Given the description of an element on the screen output the (x, y) to click on. 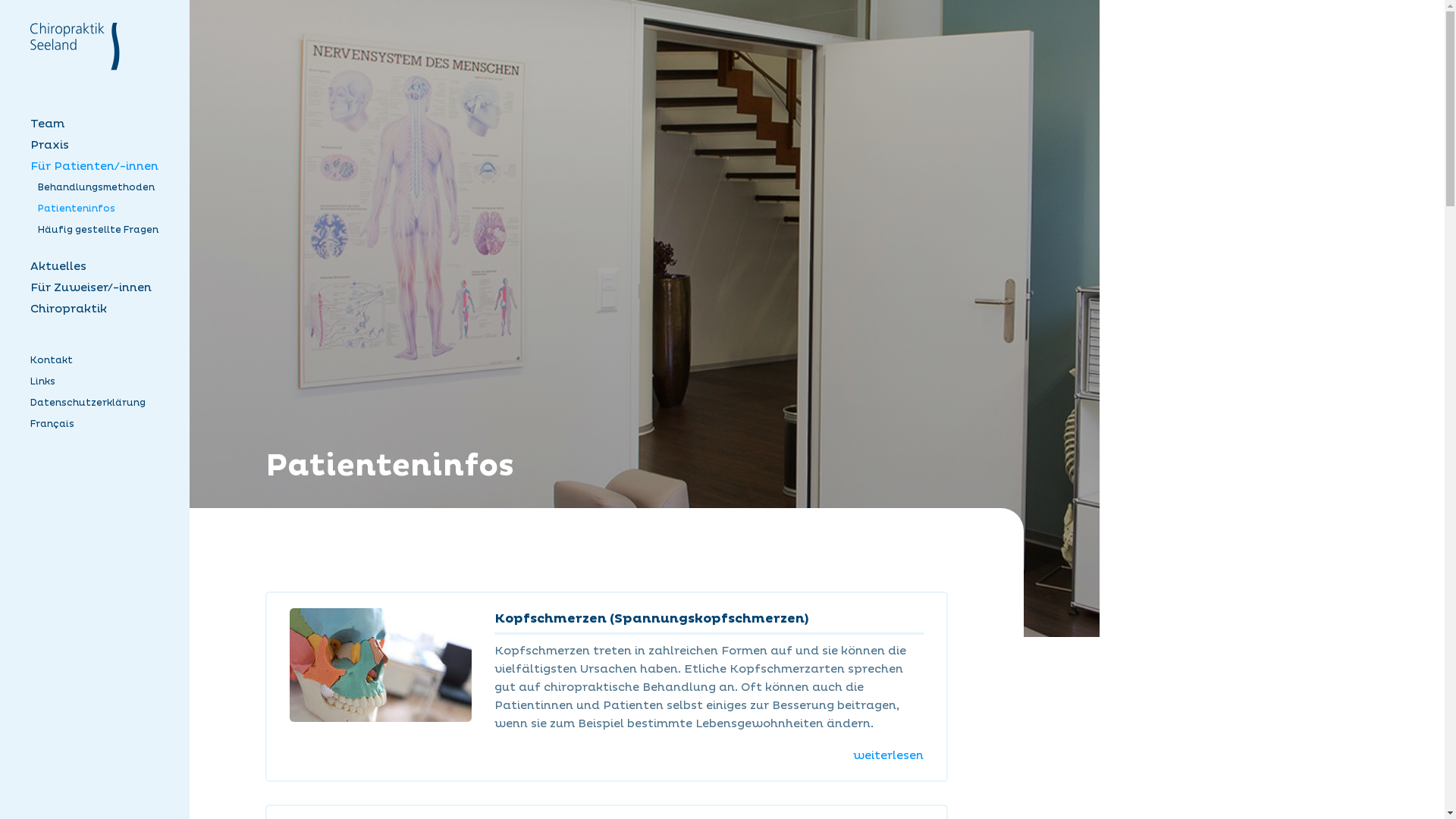
Patienteninfos Element type: text (105, 208)
Team Element type: text (98, 123)
Links Element type: text (98, 381)
Praxis Element type: text (98, 145)
Aktuelles Element type: text (98, 266)
Chiropraktik Element type: text (98, 309)
Kopfschmerzen (Spannungskopfschmerzen) Element type: text (651, 618)
Behandlungsmethoden Element type: text (105, 187)
Kontakt Element type: text (98, 360)
weiterlesen Element type: text (888, 755)
